Given the description of an element on the screen output the (x, y) to click on. 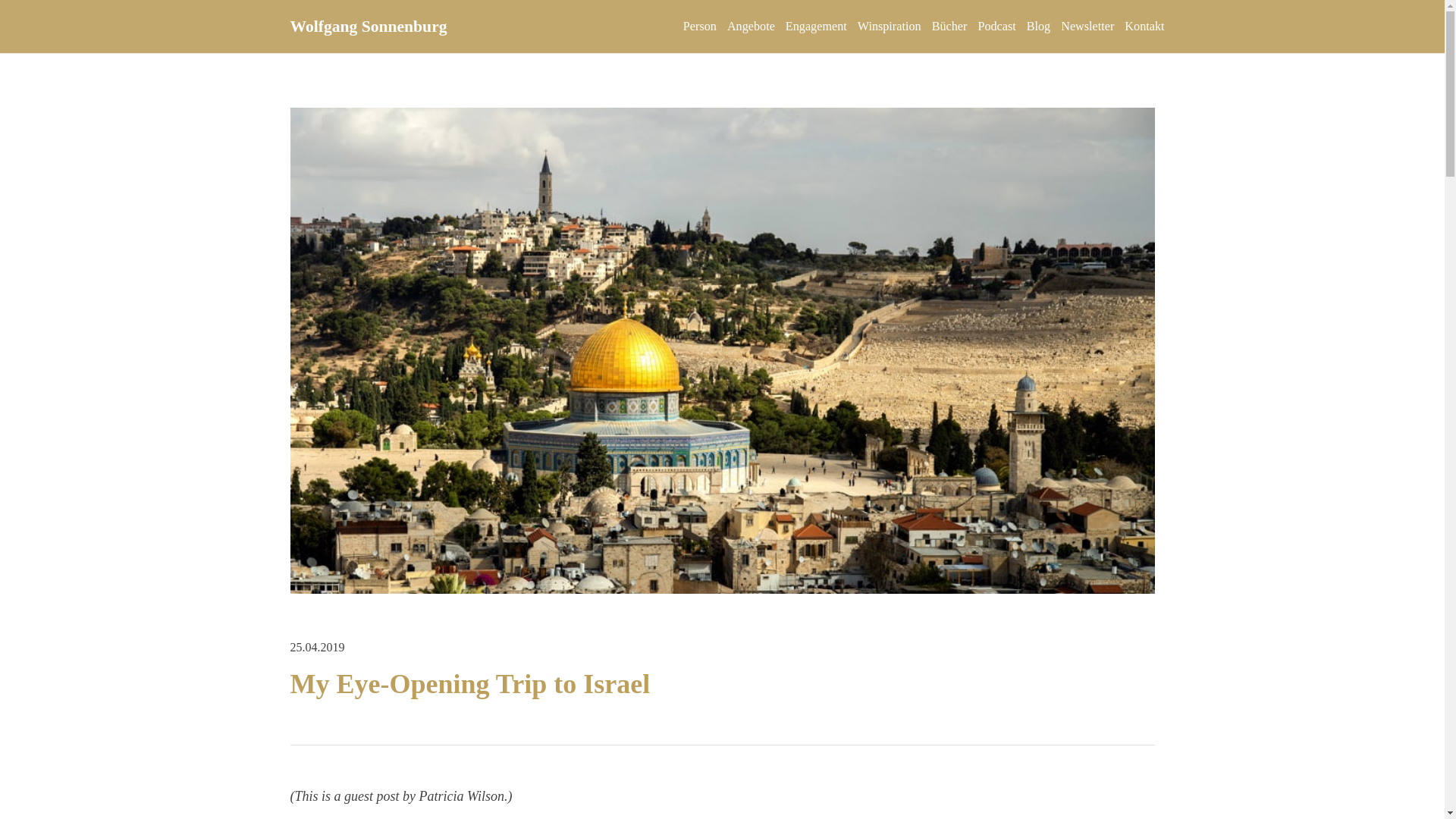
Engagement (815, 26)
Winspiration (888, 26)
Newsletter (1087, 26)
Wolfgang Sonnenburg (367, 26)
Angebote (751, 26)
Podcast (996, 26)
Kontakt (1144, 26)
